Given the description of an element on the screen output the (x, y) to click on. 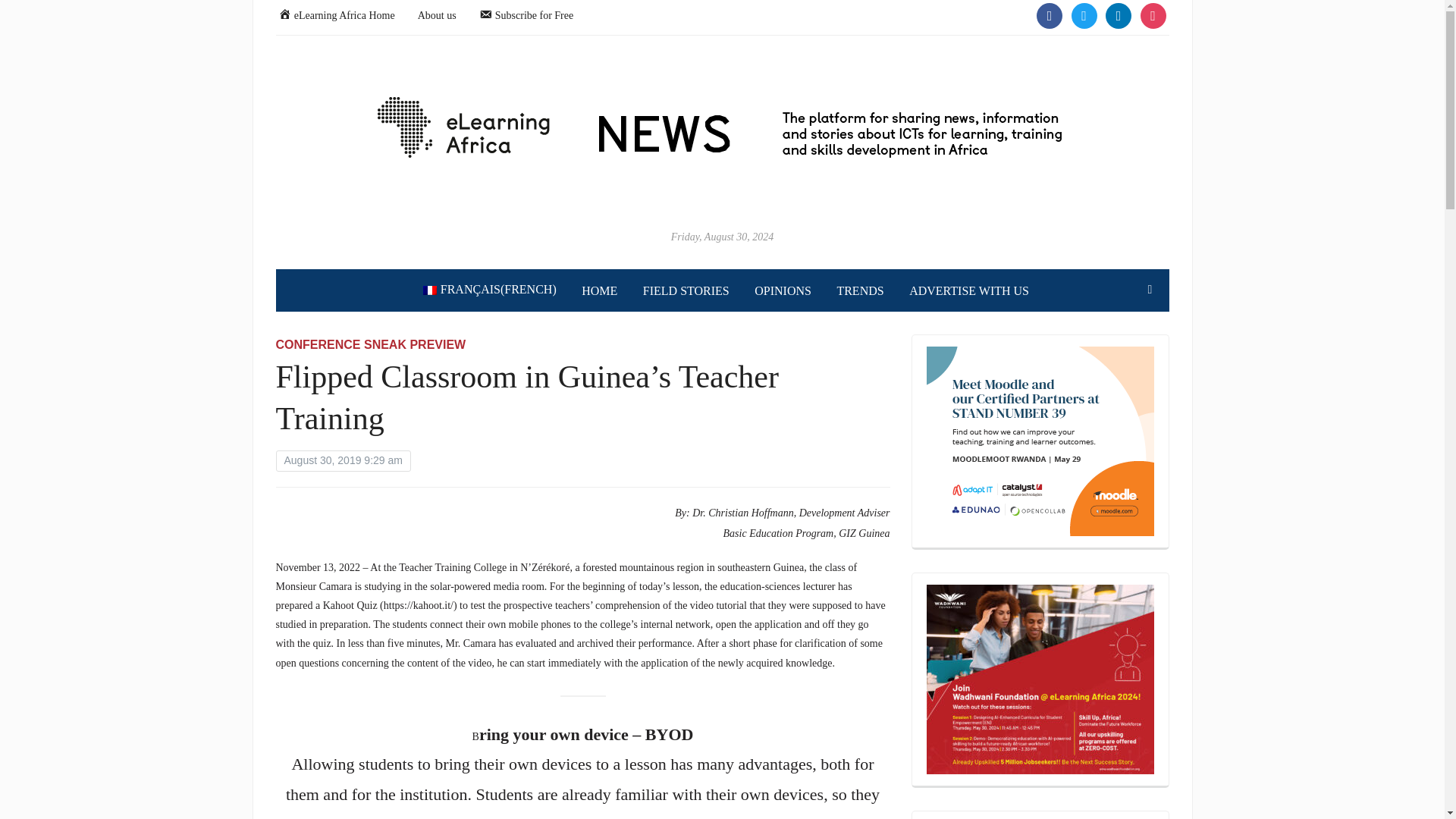
Facebook (1049, 14)
Default Label (1153, 14)
Subscribe for Free (526, 14)
OPINIONS (782, 291)
French (489, 290)
linkedin (1118, 14)
instagram (1153, 14)
ADVERTISE WITH US (968, 291)
eLearning Africa Home (336, 14)
HOME (598, 291)
